Given the description of an element on the screen output the (x, y) to click on. 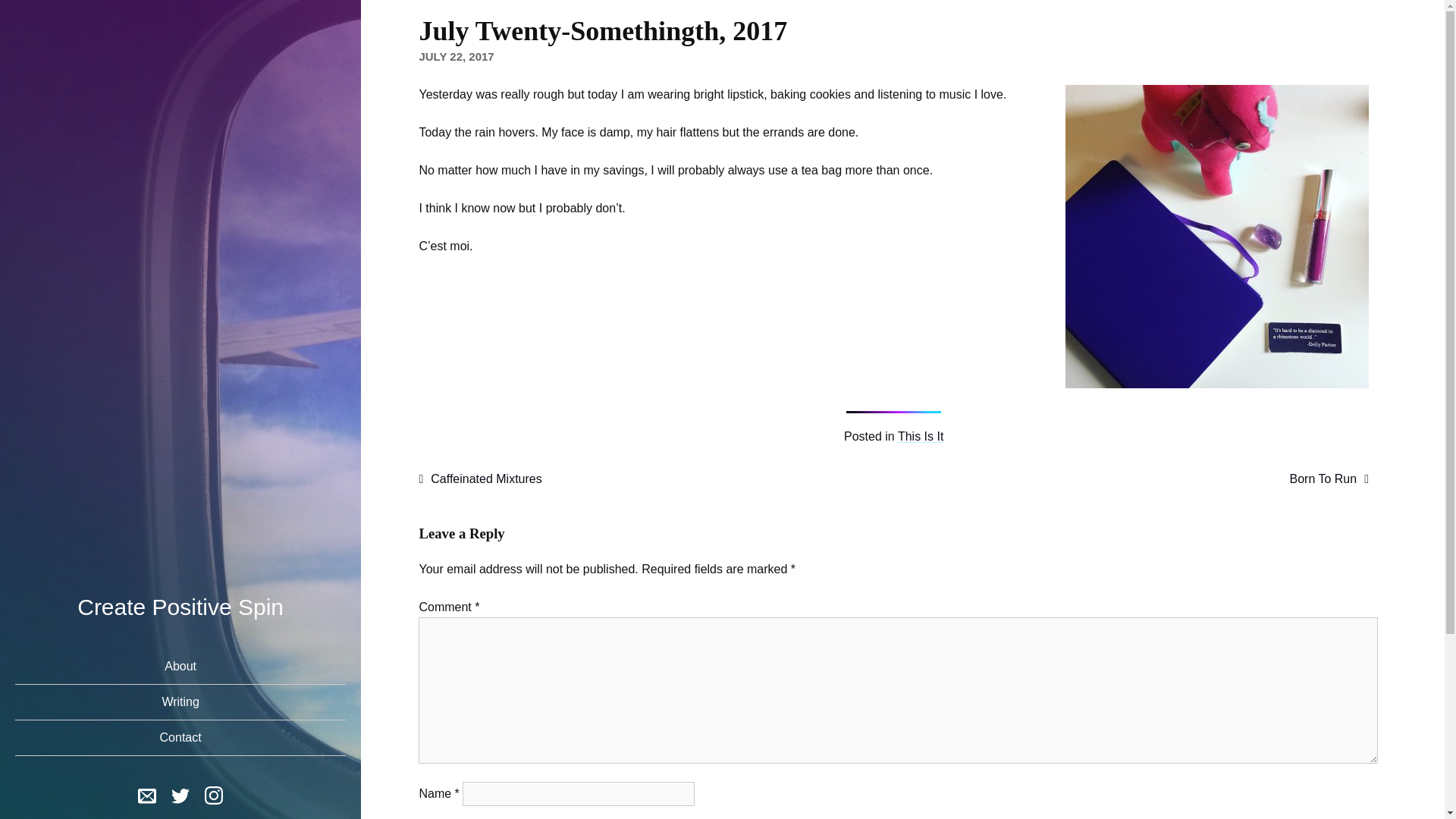
Create Positive Spin (180, 606)
About (180, 666)
Writing (180, 701)
Contact (180, 737)
instagram (213, 798)
This Is It (920, 436)
Born To Run (1328, 478)
instagram (213, 794)
Caffeinated Mixtures (480, 478)
JULY 22, 2017 (456, 56)
twitter (180, 798)
twitter (180, 794)
